Given the description of an element on the screen output the (x, y) to click on. 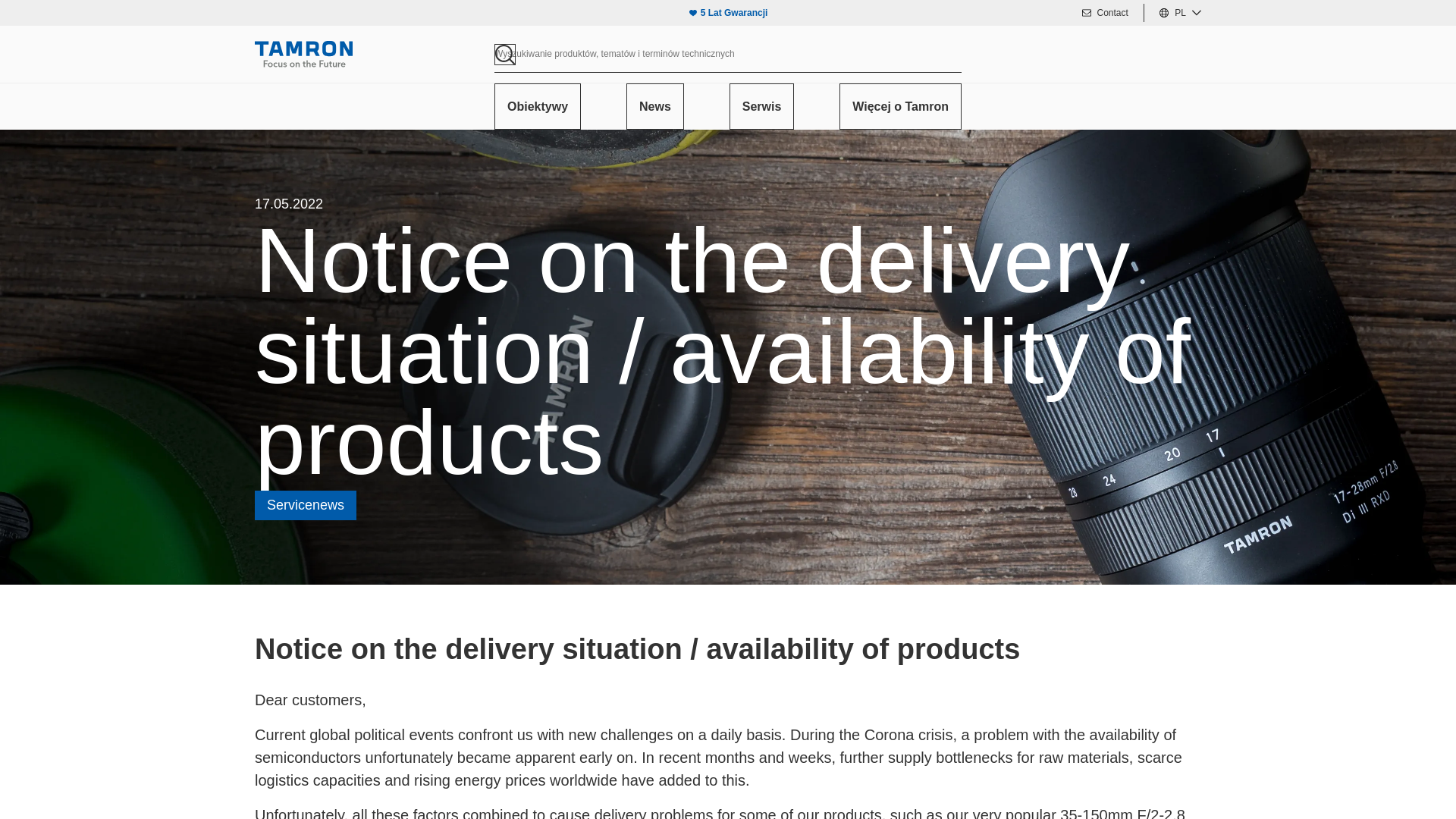
Contact (1111, 12)
PL (1187, 12)
5 Lat Gwarancji (734, 12)
